Given the description of an element on the screen output the (x, y) to click on. 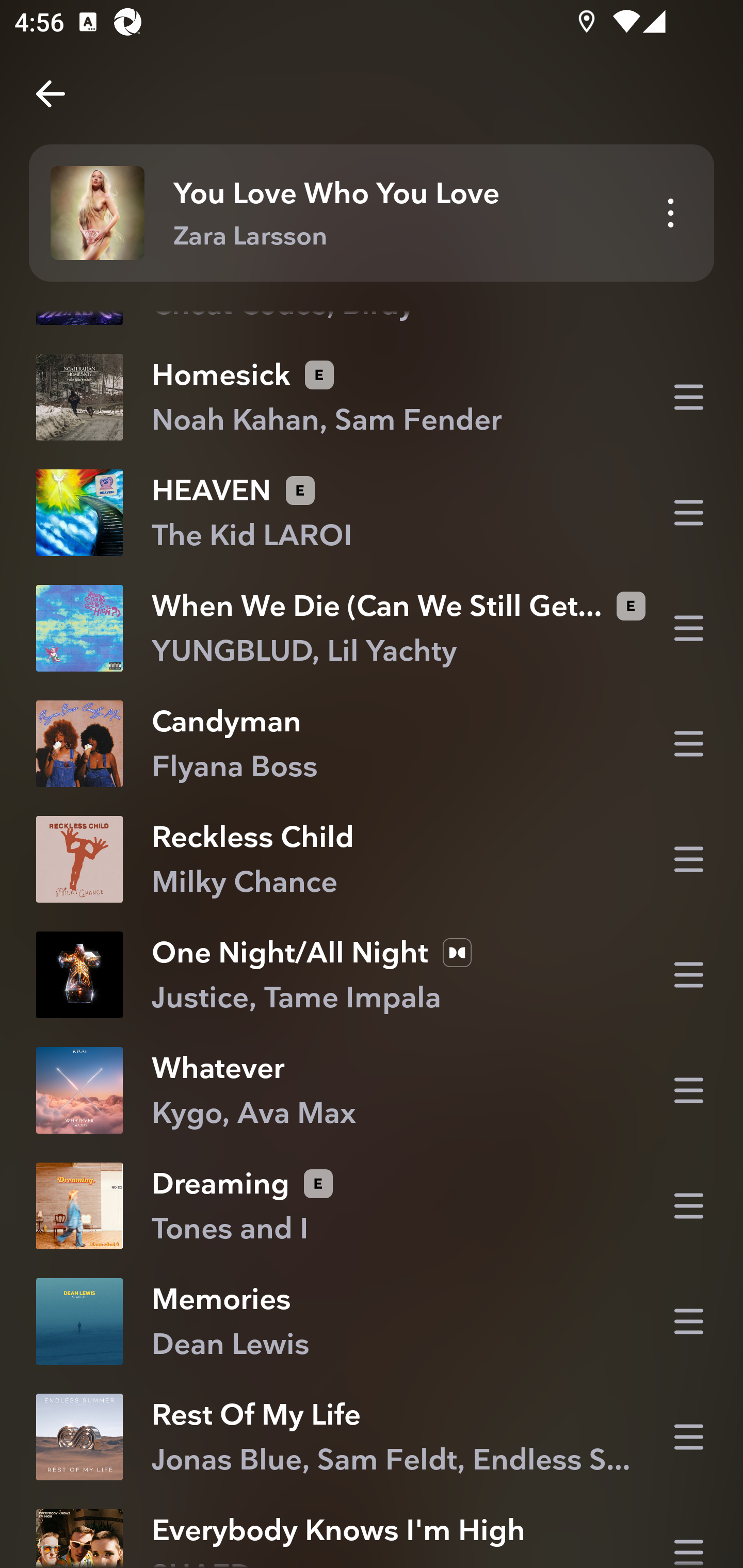
You Love Who You Love Zara Larsson (371, 213)
Homesick Noah Kahan, Sam Fender (371, 396)
HEAVEN The Kid LAROI (371, 512)
Candyman Flyana Boss (371, 743)
Reckless Child Milky Chance (371, 859)
One Night/All Night Justice, Tame Impala (371, 975)
Whatever Kygo, Ava Max (371, 1090)
Dreaming Tones and I (371, 1205)
Memories Dean Lewis (371, 1321)
Everybody Knows I'm High SHAED (371, 1531)
